Given the description of an element on the screen output the (x, y) to click on. 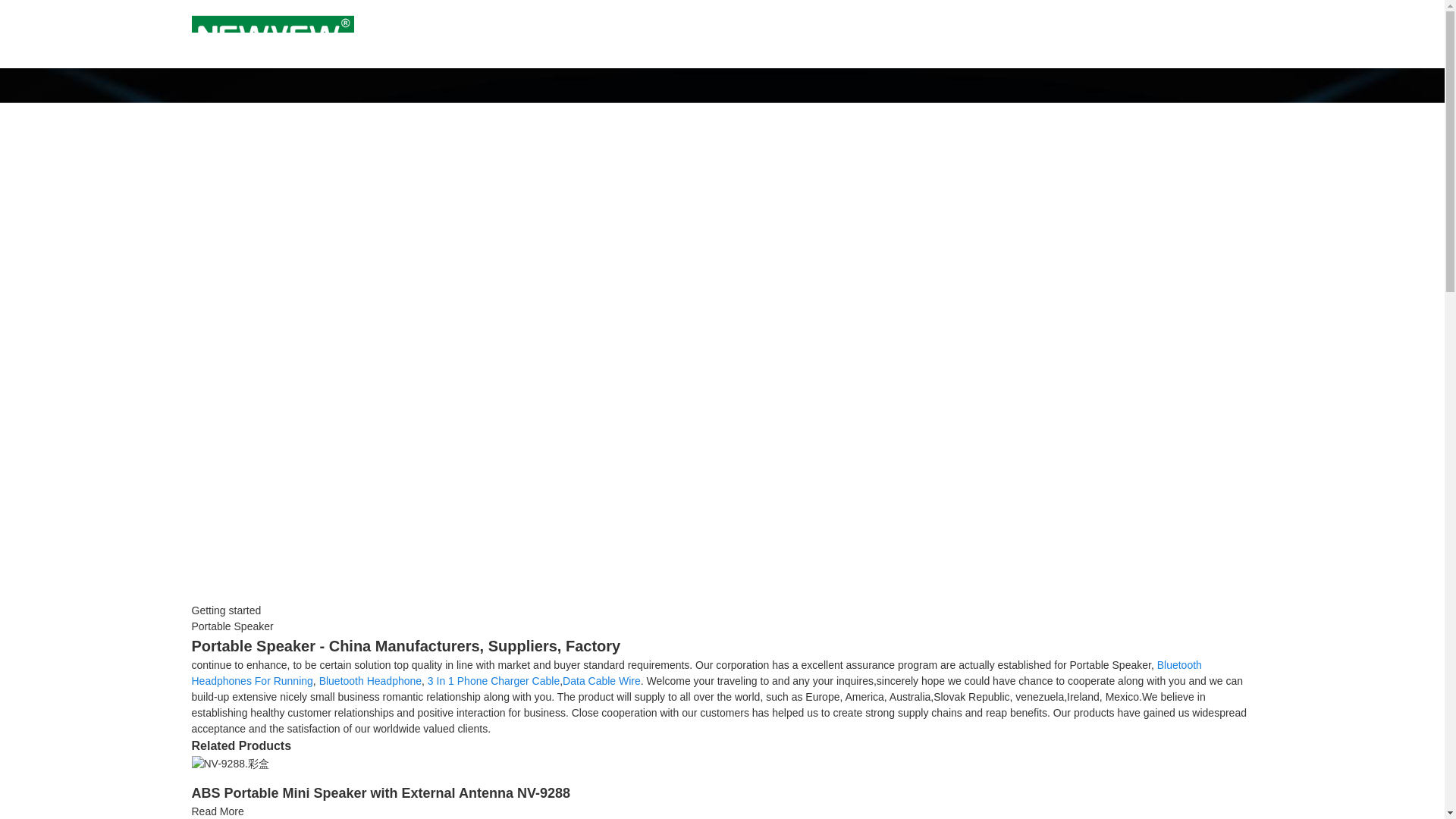
Getting started (225, 610)
Data Cable Wire (601, 680)
ABS Portable Mini Speaker with External Antenna NV-9288 (216, 811)
Portable Speaker (231, 625)
Bluetooth Headphones For Running (695, 673)
Bluetooth Headphone (370, 680)
ABS Portable Mini Speaker with External Antenna NV-9288 (228, 762)
Bluetooth Headphone (370, 680)
ABS Portable Mini Speaker with External Antenna NV-9288 (379, 792)
PRODUCTS (632, 34)
Bluetooth Headphones For Running (695, 673)
3 In 1 Phone Charger Cable (493, 680)
CONTACT US (902, 34)
ABOUT US (764, 34)
